Given the description of an element on the screen output the (x, y) to click on. 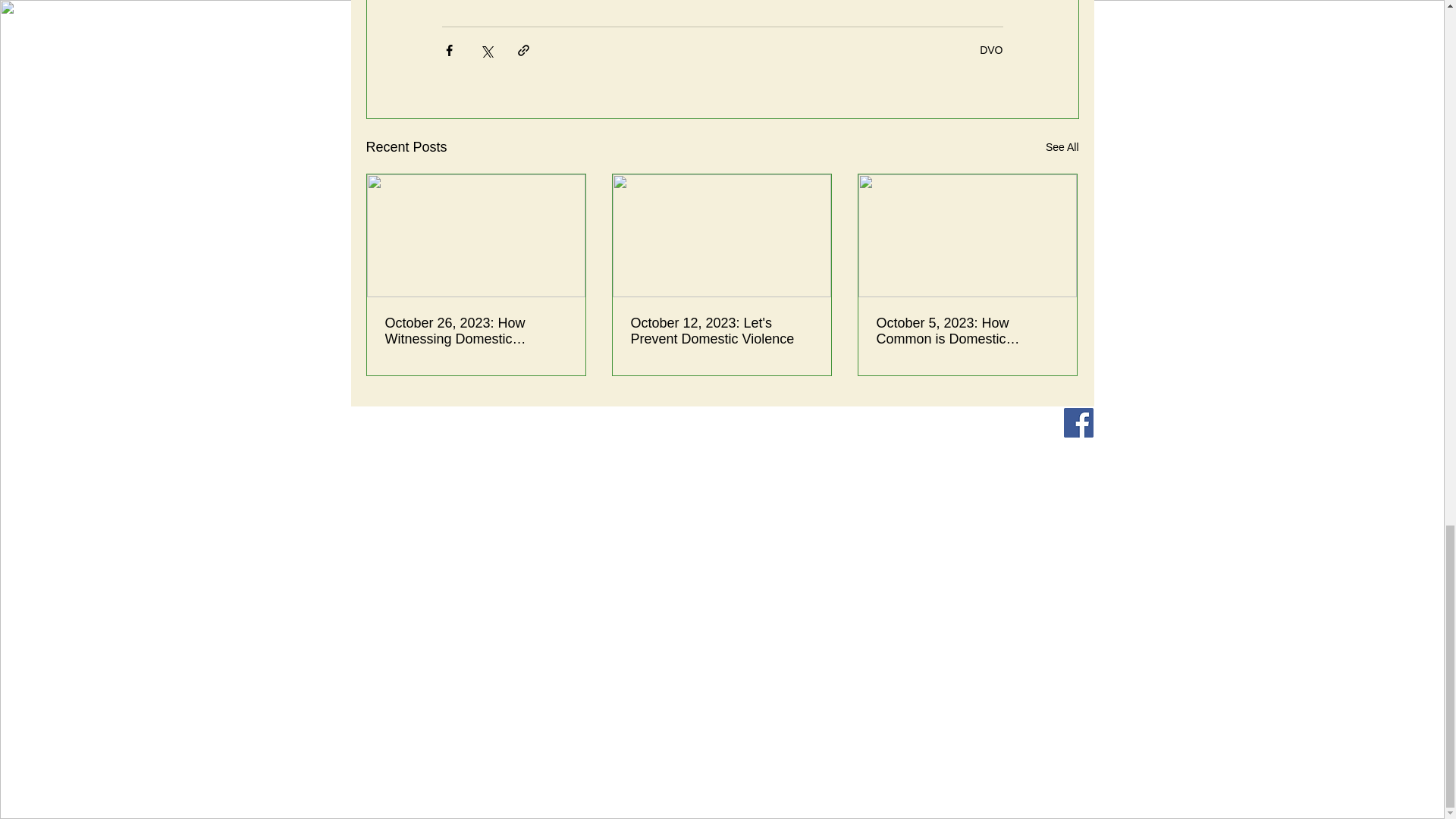
October 12, 2023: Let's Prevent Domestic Violence (721, 331)
DVO (991, 50)
October 5, 2023: How Common is Domestic Violence? (967, 331)
See All (1061, 147)
